Given the description of an element on the screen output the (x, y) to click on. 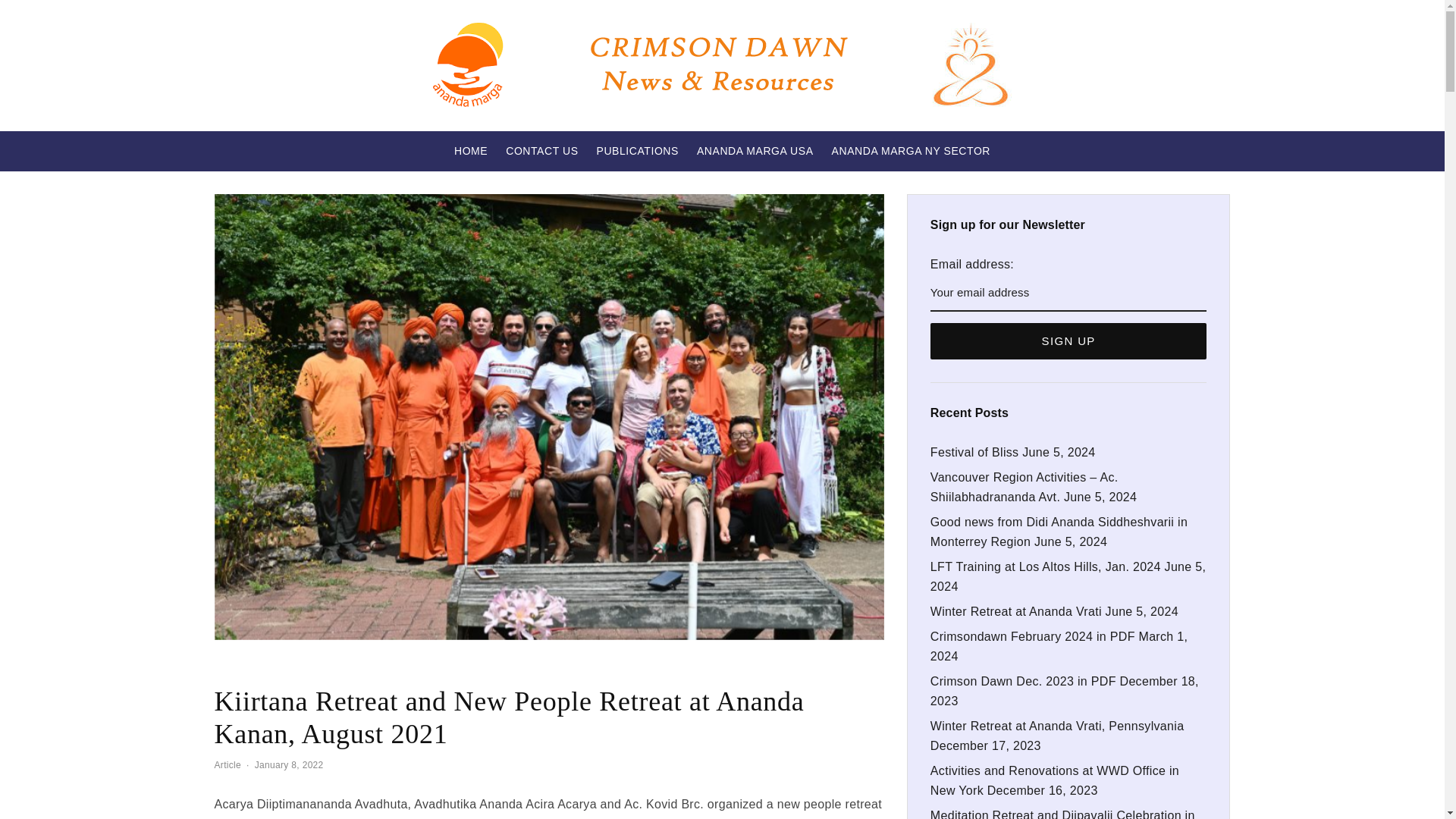
PUBLICATIONS (637, 151)
ANANDA MARGA NY SECTOR (910, 151)
Sign up (1068, 340)
CONTACT US (541, 151)
Article (227, 765)
HOME (470, 151)
ANANDA MARGA USA (754, 151)
